Given the description of an element on the screen output the (x, y) to click on. 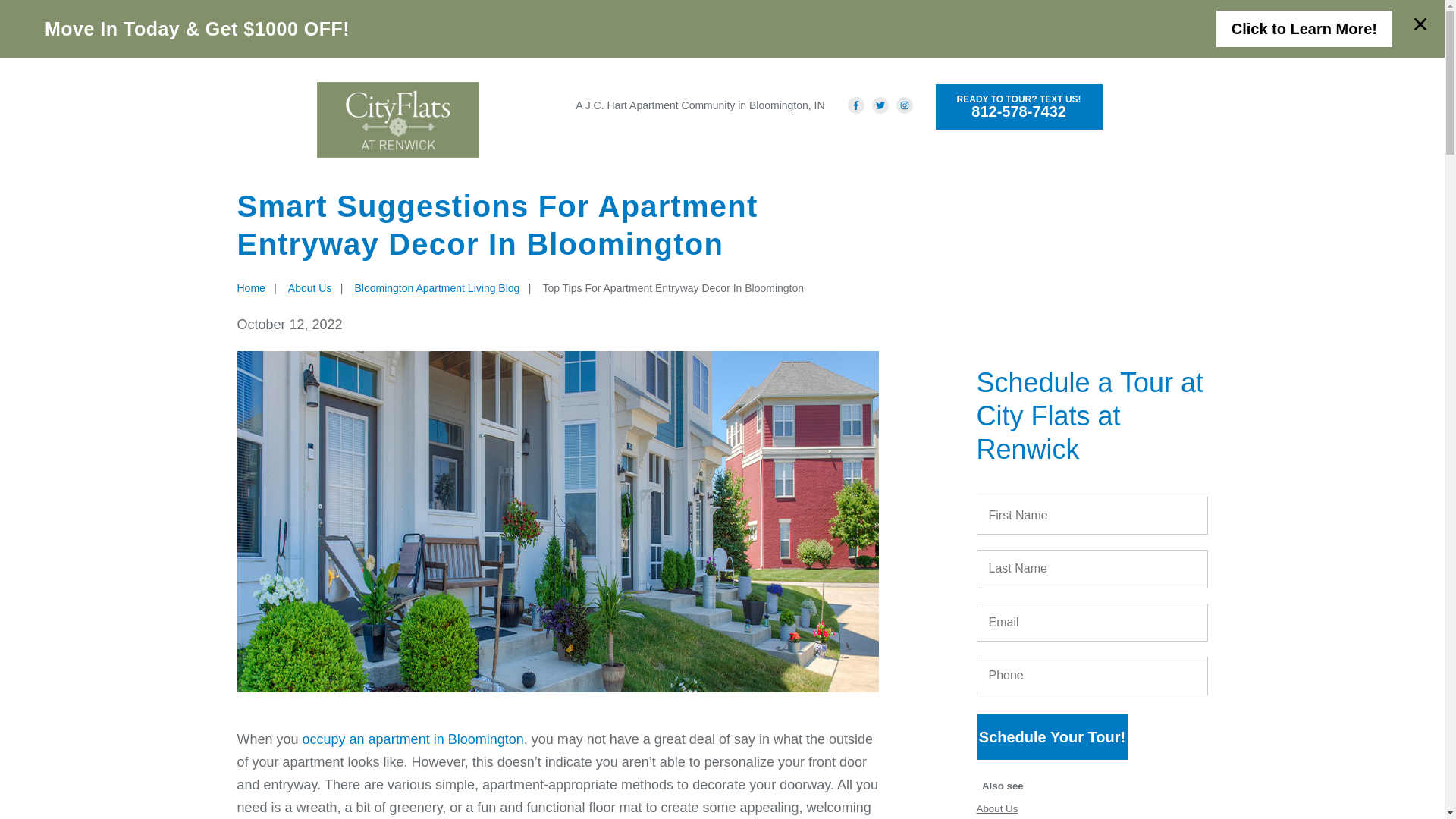
GALLERY (909, 146)
Like us on Facebook (855, 105)
AMENITIES (730, 146)
Home (1019, 106)
City Flats at Renwick Home (249, 287)
Follow us on Instagram (398, 119)
Schedule Your Tour! (904, 105)
Click to Learn More! (1051, 737)
Follow us on Twitter (1303, 28)
